Given the description of an element on the screen output the (x, y) to click on. 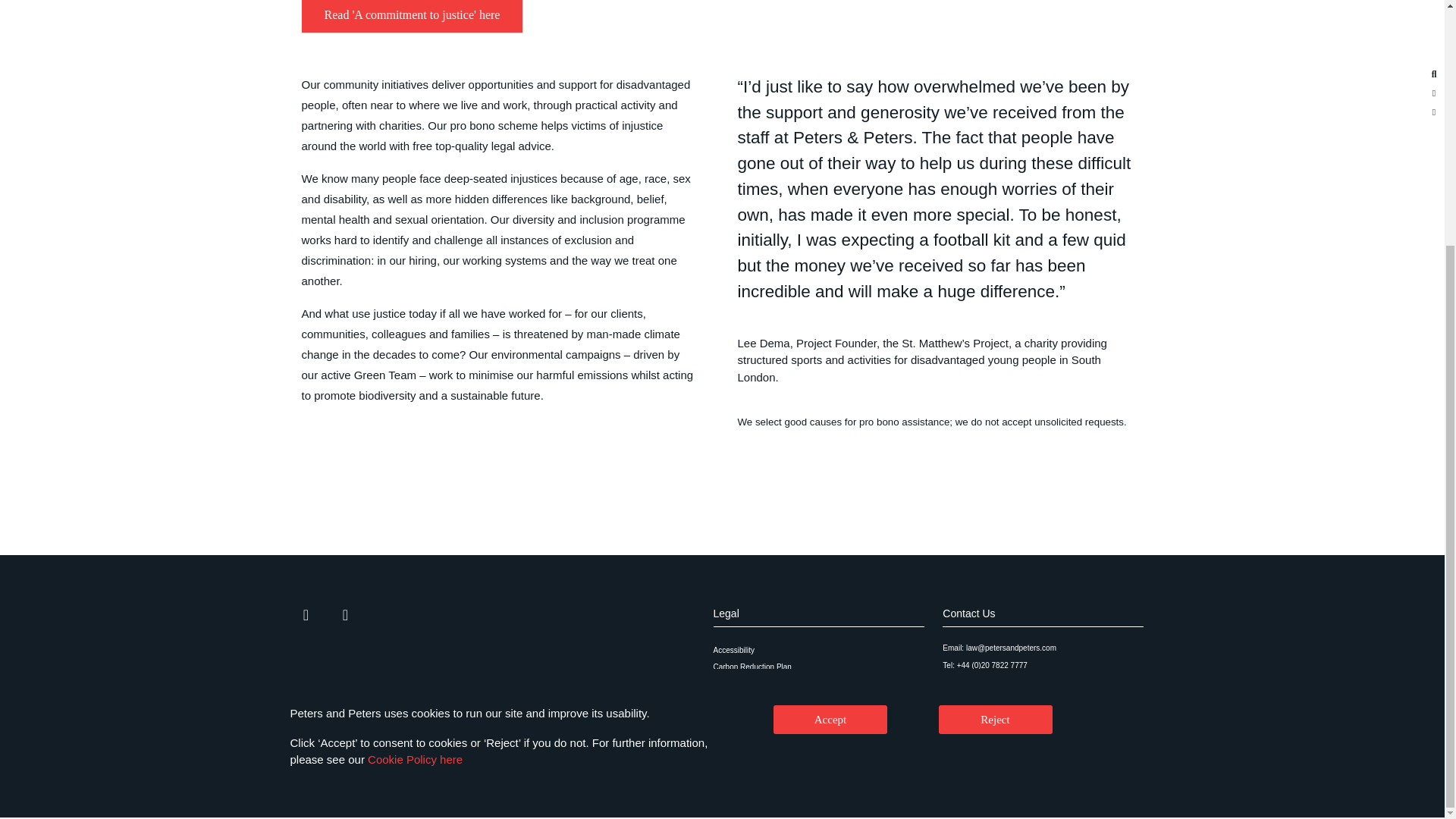
Cookie Policy (818, 683)
Privacy Policy (818, 699)
Legal (725, 613)
Accessibility (818, 650)
Read 'A commitment to justice' here (411, 16)
Carbon Reduction Plan (818, 667)
